Given the description of an element on the screen output the (x, y) to click on. 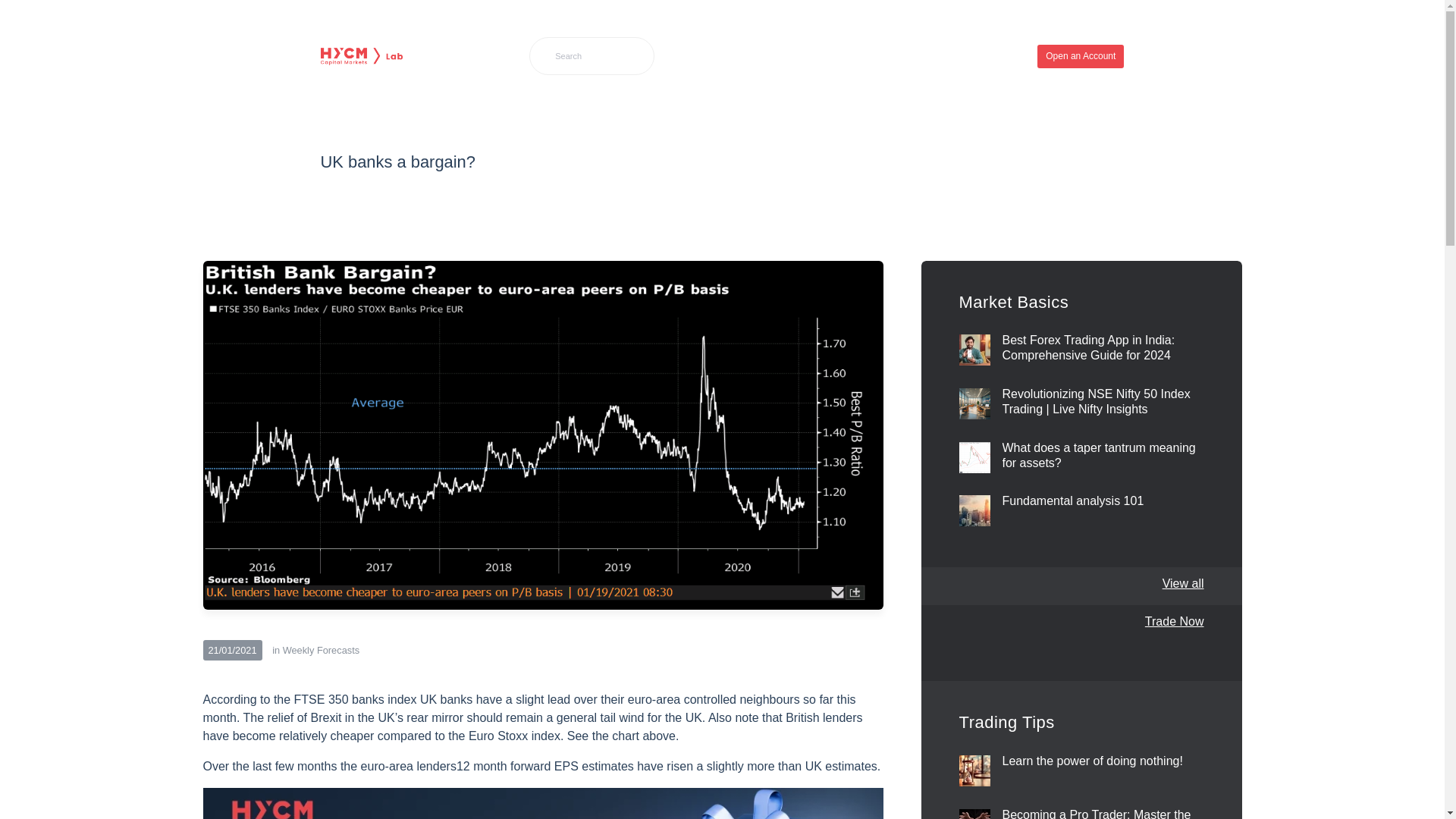
Opinion (923, 56)
View all (1182, 583)
View all (1174, 621)
Open an Account (1080, 56)
Education (994, 56)
Live Analysis (845, 56)
